Given the description of an element on the screen output the (x, y) to click on. 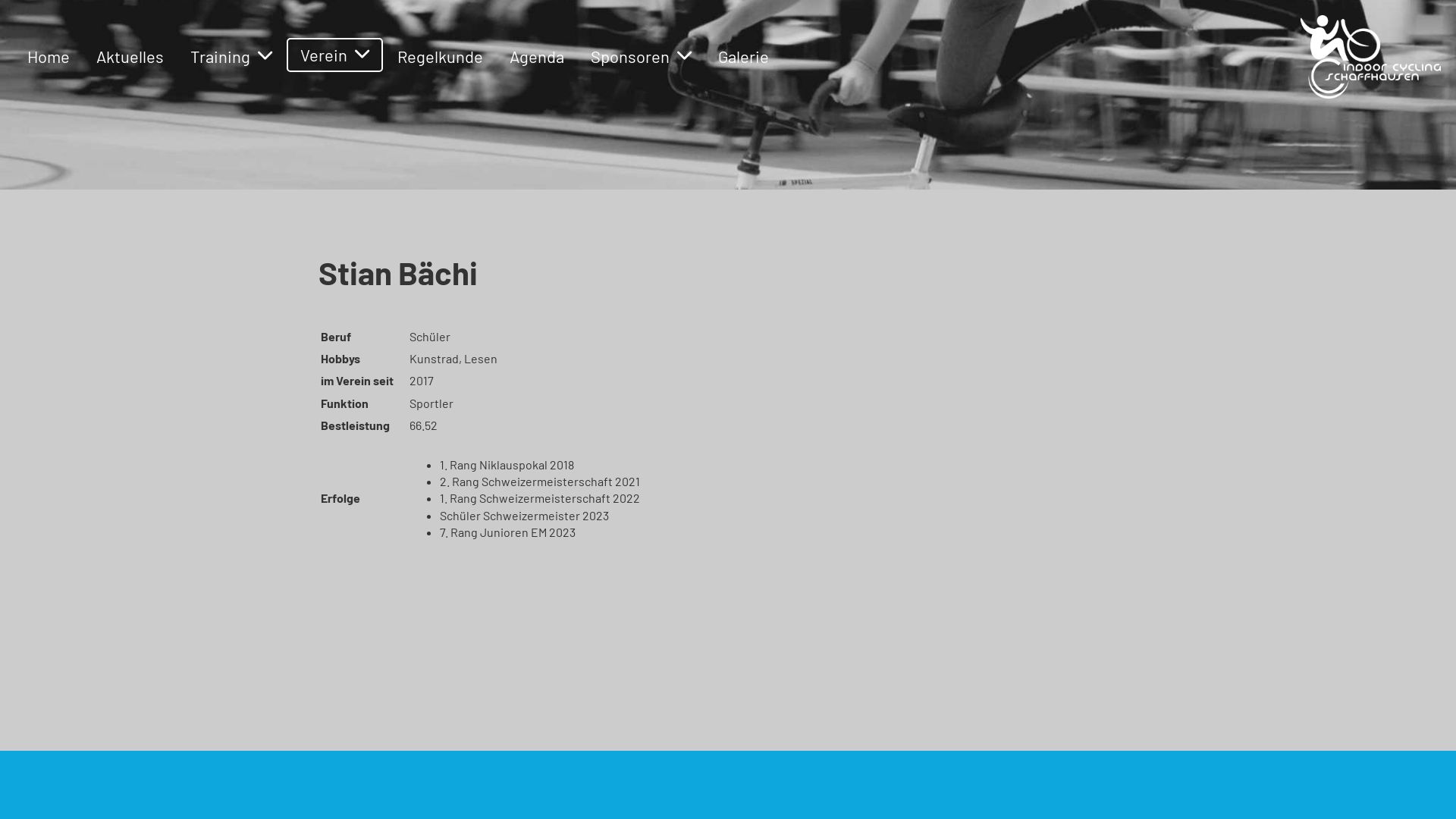
Sponsoren Element type: text (640, 56)
Aktuelles Element type: text (129, 56)
Home Element type: text (48, 56)
Regelkunde Element type: text (440, 56)
Verein Element type: text (334, 54)
Agenda Element type: text (536, 56)
Galerie Element type: text (743, 56)
Training Element type: text (231, 56)
